Given the description of an element on the screen output the (x, y) to click on. 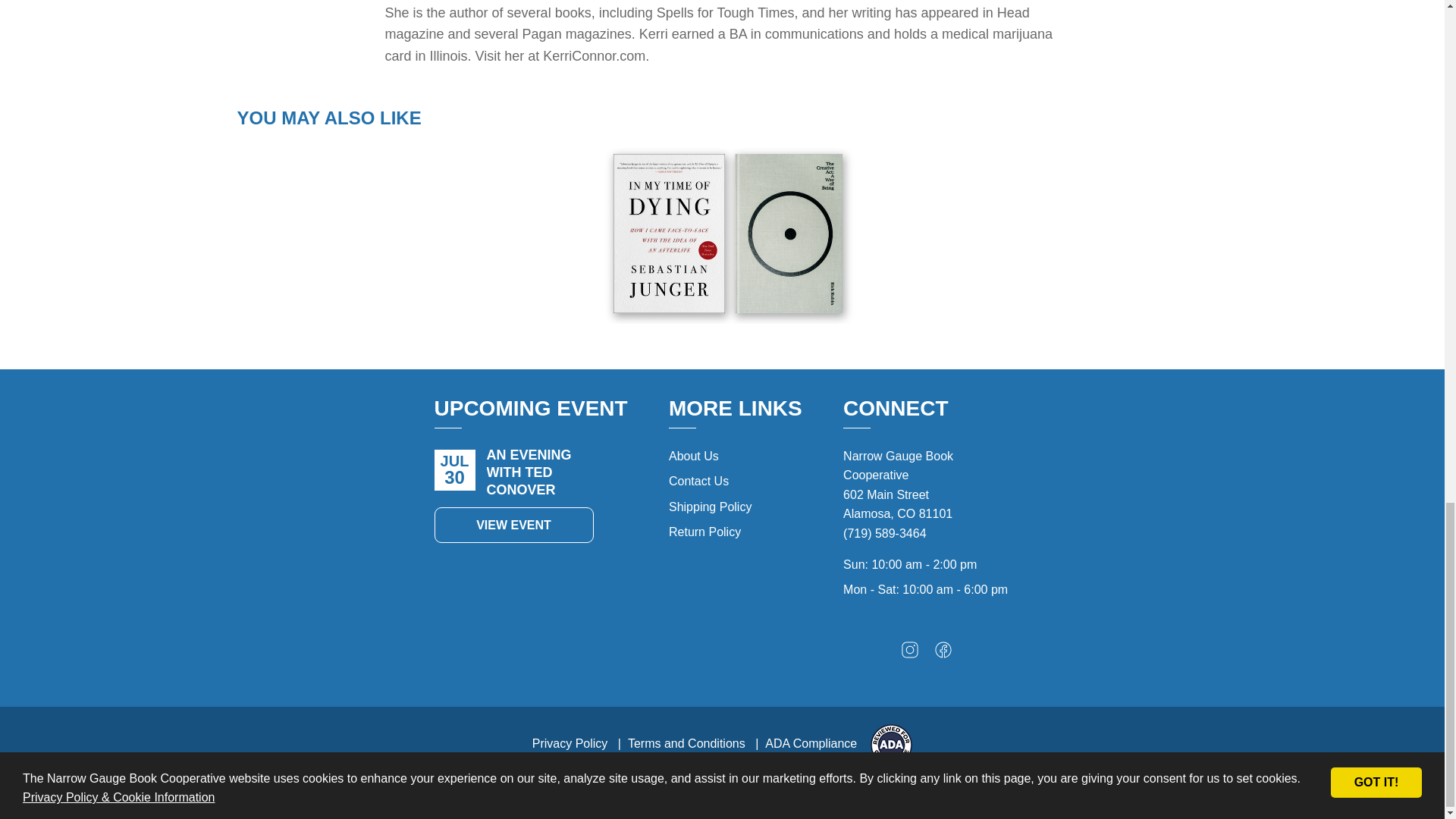
Powered by IndieCommerce (837, 786)
Connect with Facebook (943, 653)
Return Policy (704, 531)
Terms and Conditions (686, 743)
Connect with Instagram (909, 653)
ADA Compliance (811, 743)
Privacy Policy (570, 743)
Contact Us (698, 481)
VIEW EVENT (512, 524)
About Us (693, 455)
Shipping Policy (709, 506)
